Given the description of an element on the screen output the (x, y) to click on. 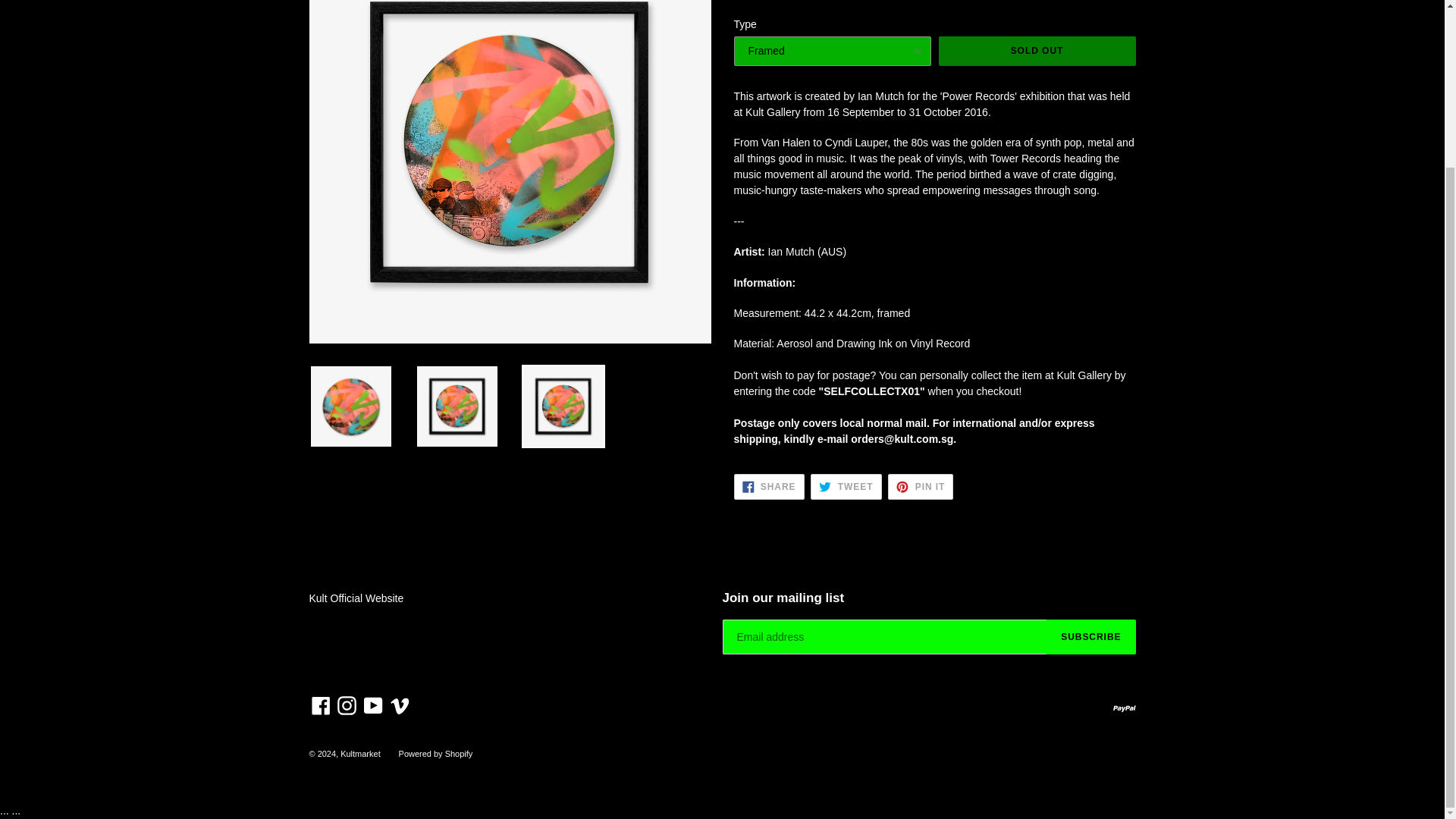
Kultmarket on Facebook (320, 705)
Pin on Pinterest (920, 486)
Share on Facebook (769, 486)
Kultmarket on Vimeo (400, 705)
Kultmarket on YouTube (373, 705)
Kultmarket on Instagram (346, 705)
Tweet on Twitter (845, 486)
